Given the description of an element on the screen output the (x, y) to click on. 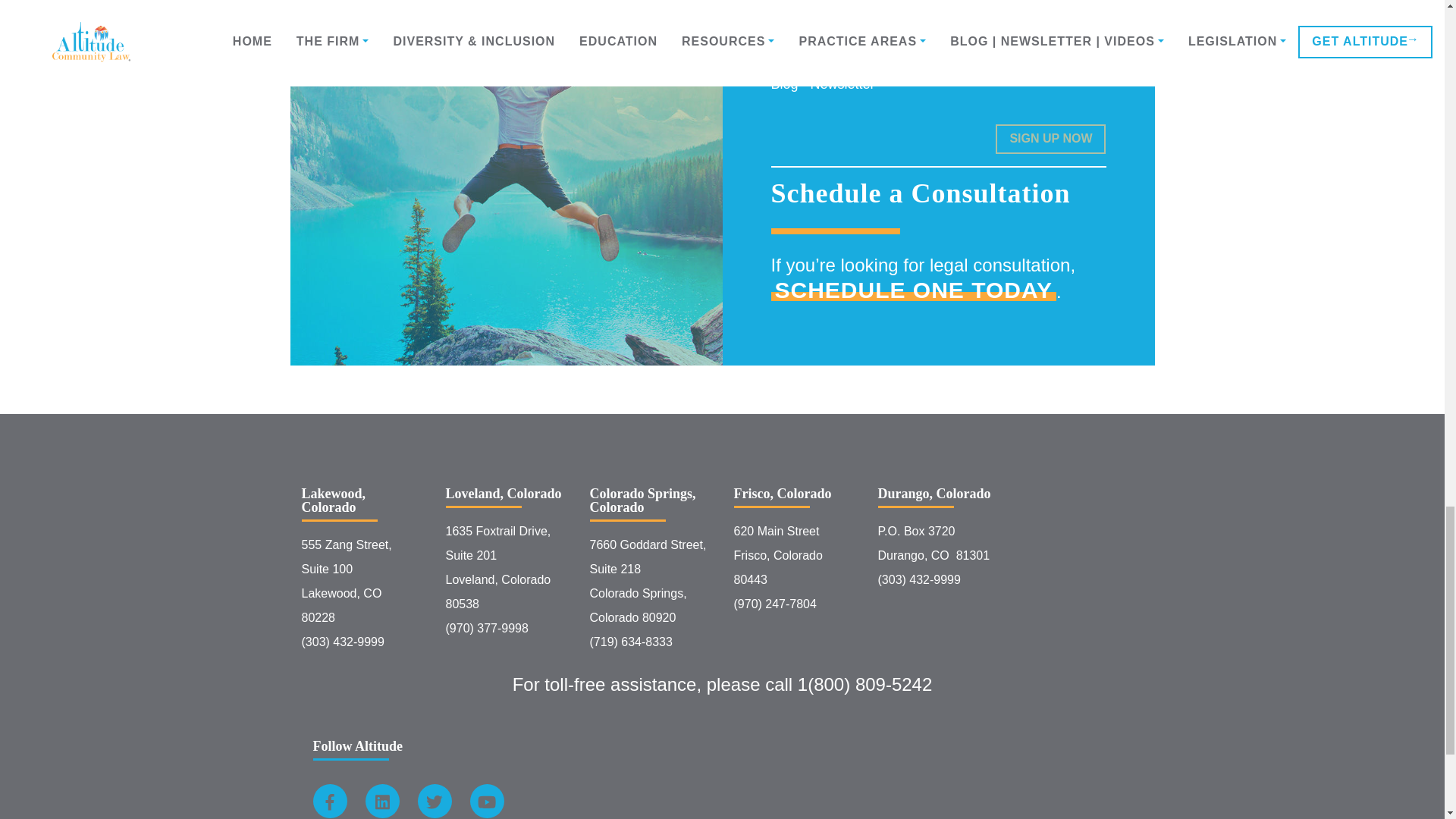
Newsletter (815, 63)
Sign Up Now (1050, 138)
Blog (775, 63)
